Given the description of an element on the screen output the (x, y) to click on. 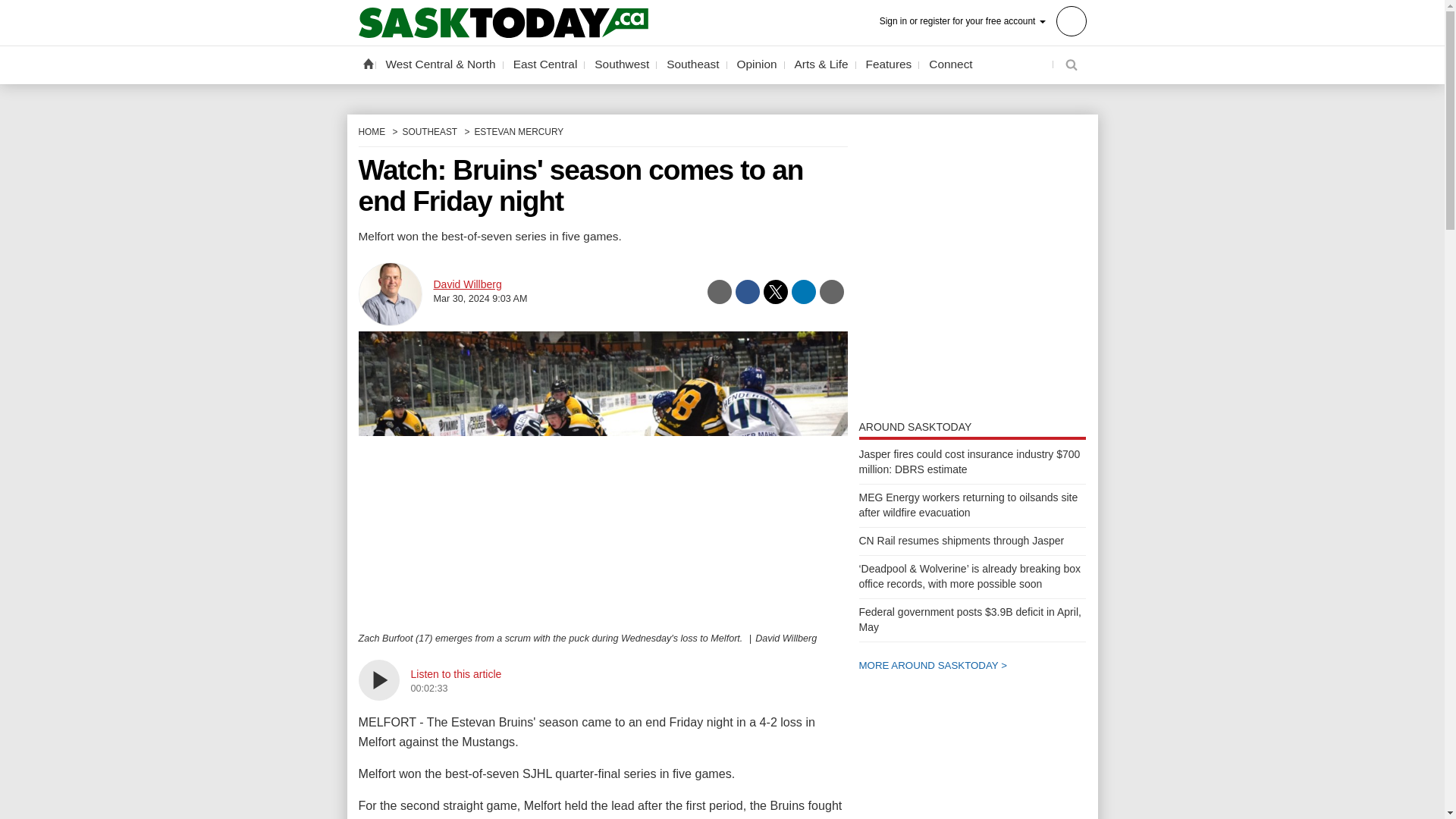
Home (367, 63)
East Central (545, 64)
Sign in or register for your free account (982, 20)
Southwest (622, 64)
